Given the description of an element on the screen output the (x, y) to click on. 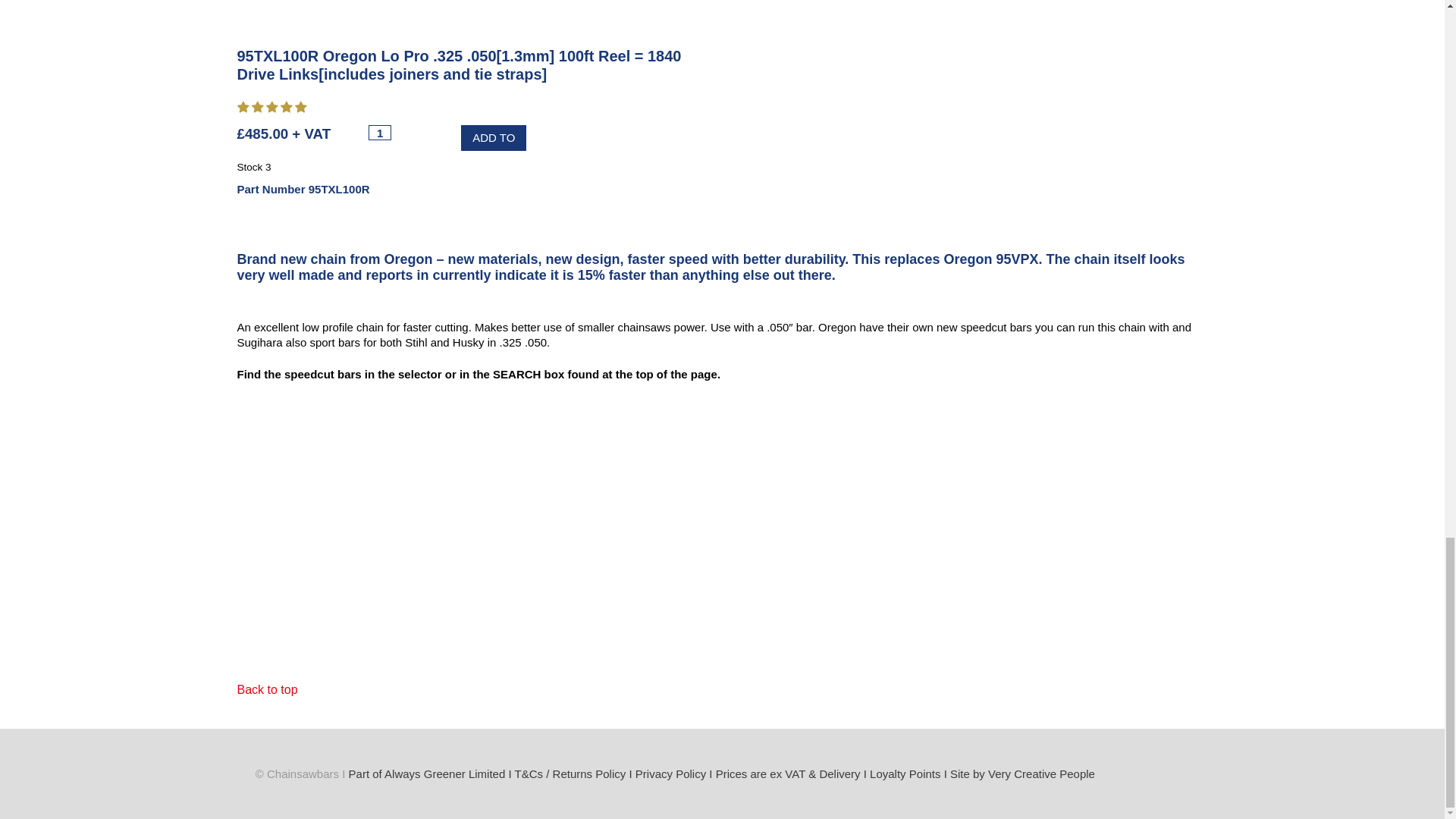
1 (379, 132)
